Given the description of an element on the screen output the (x, y) to click on. 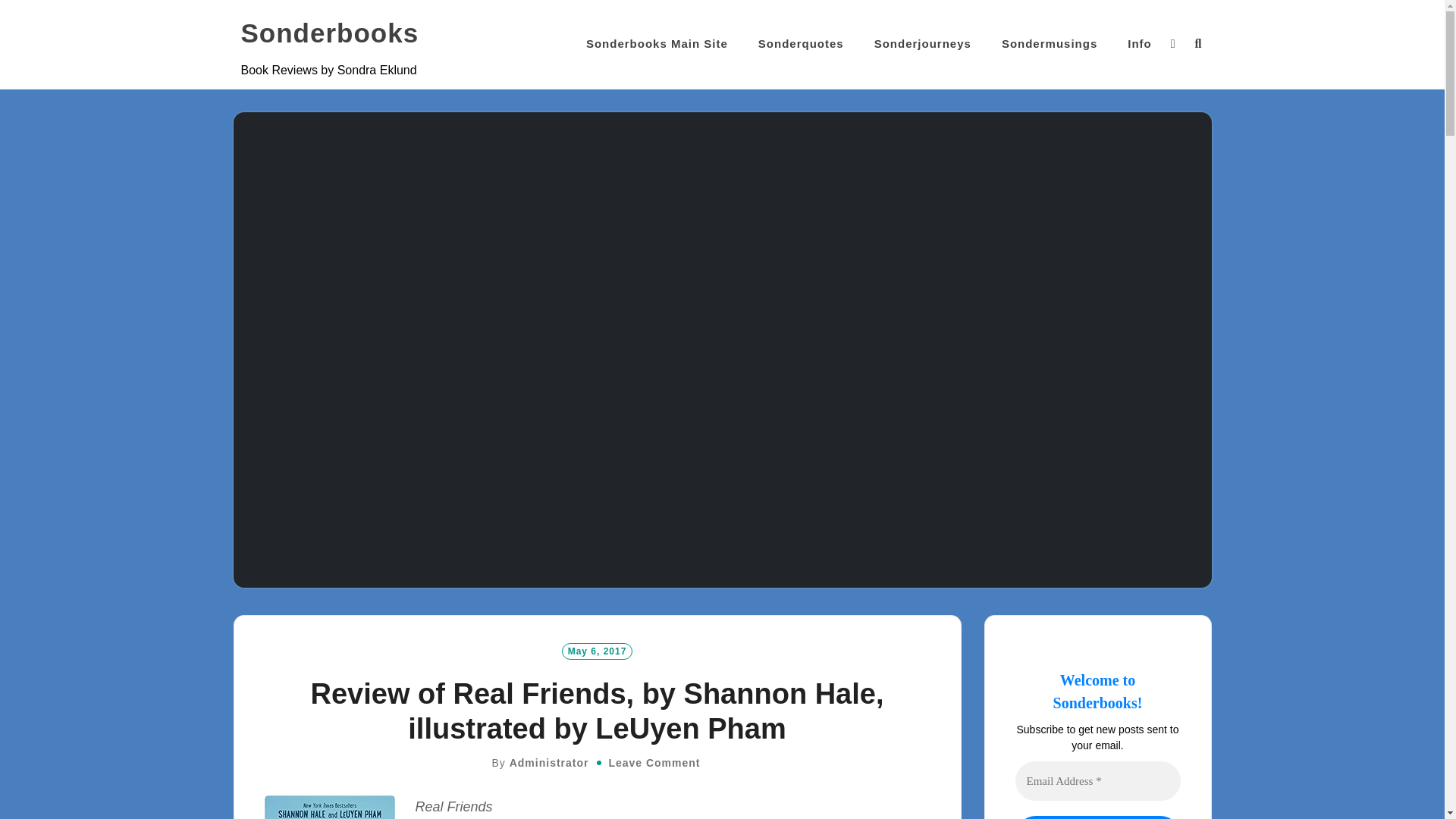
May 6, 2017 (597, 651)
Subscribe (1096, 817)
Leave Comment (654, 762)
Sondermusings (1049, 44)
Subscribe (1096, 817)
Sonderjourneys (923, 44)
Administrator (549, 762)
Sonderbooks (330, 33)
Sonderquotes (801, 44)
Sonderbooks Main Site (657, 44)
